Given the description of an element on the screen output the (x, y) to click on. 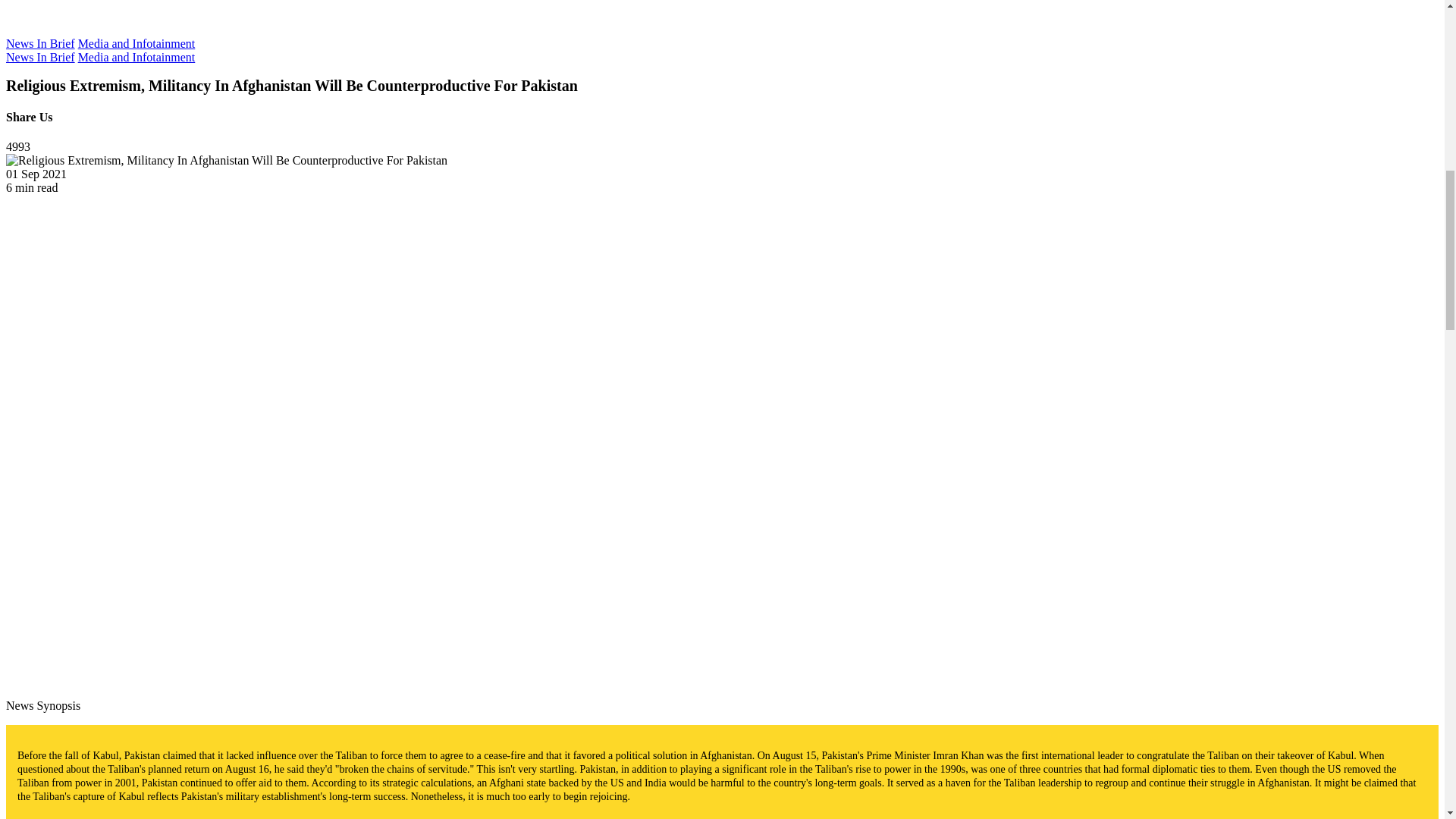
Media and Infotainment (136, 56)
News In Brief (40, 42)
Media and Infotainment (136, 42)
News In Brief (40, 56)
